Given the description of an element on the screen output the (x, y) to click on. 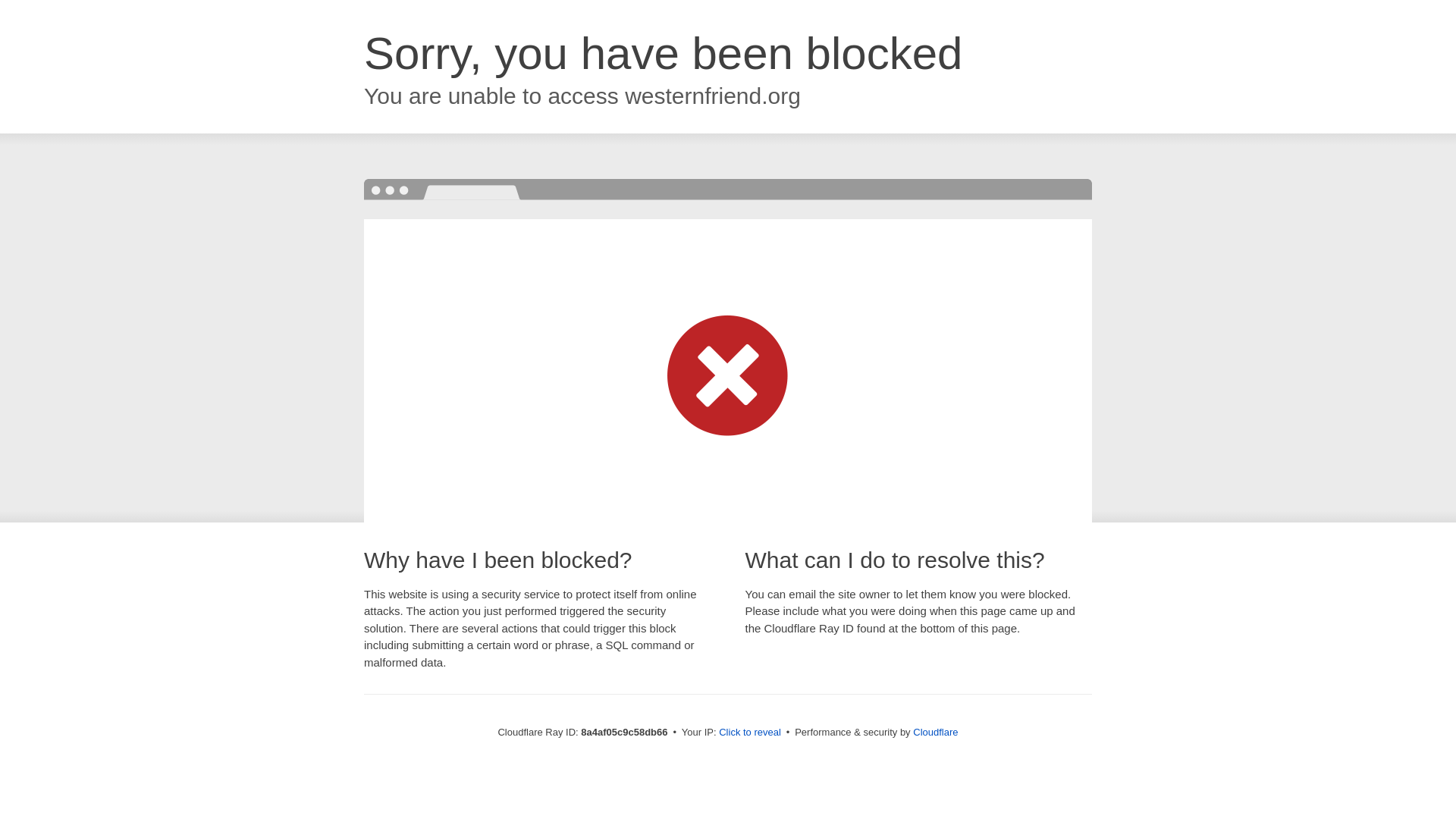
Click to reveal (749, 732)
Cloudflare (935, 731)
